Given the description of an element on the screen output the (x, y) to click on. 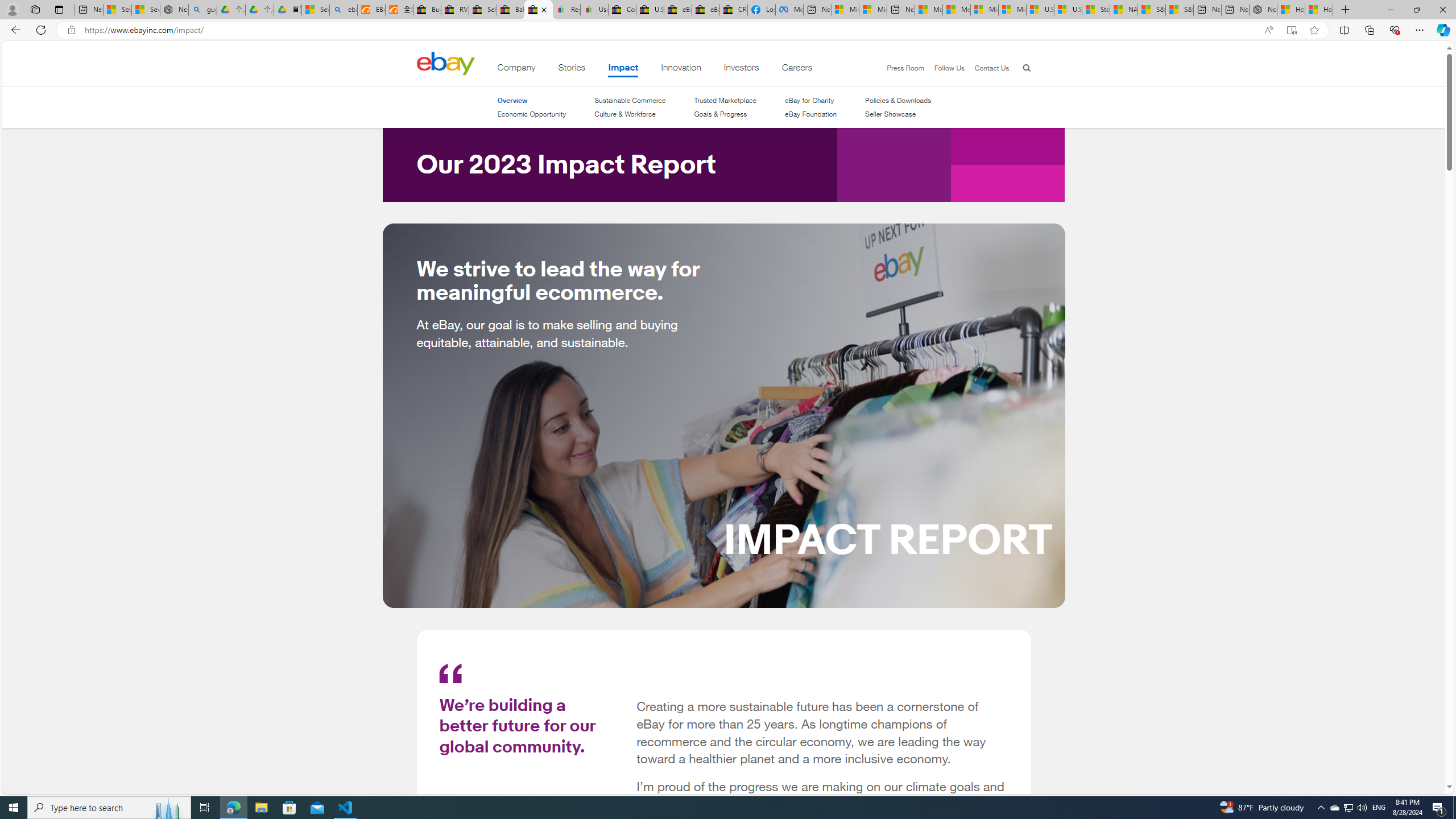
Company (515, 69)
Sustainable Commerce (629, 100)
Register: Create a personal eBay account (566, 9)
Economic Opportunity (531, 113)
Sustainable Commerce (629, 99)
